Given the description of an element on the screen output the (x, y) to click on. 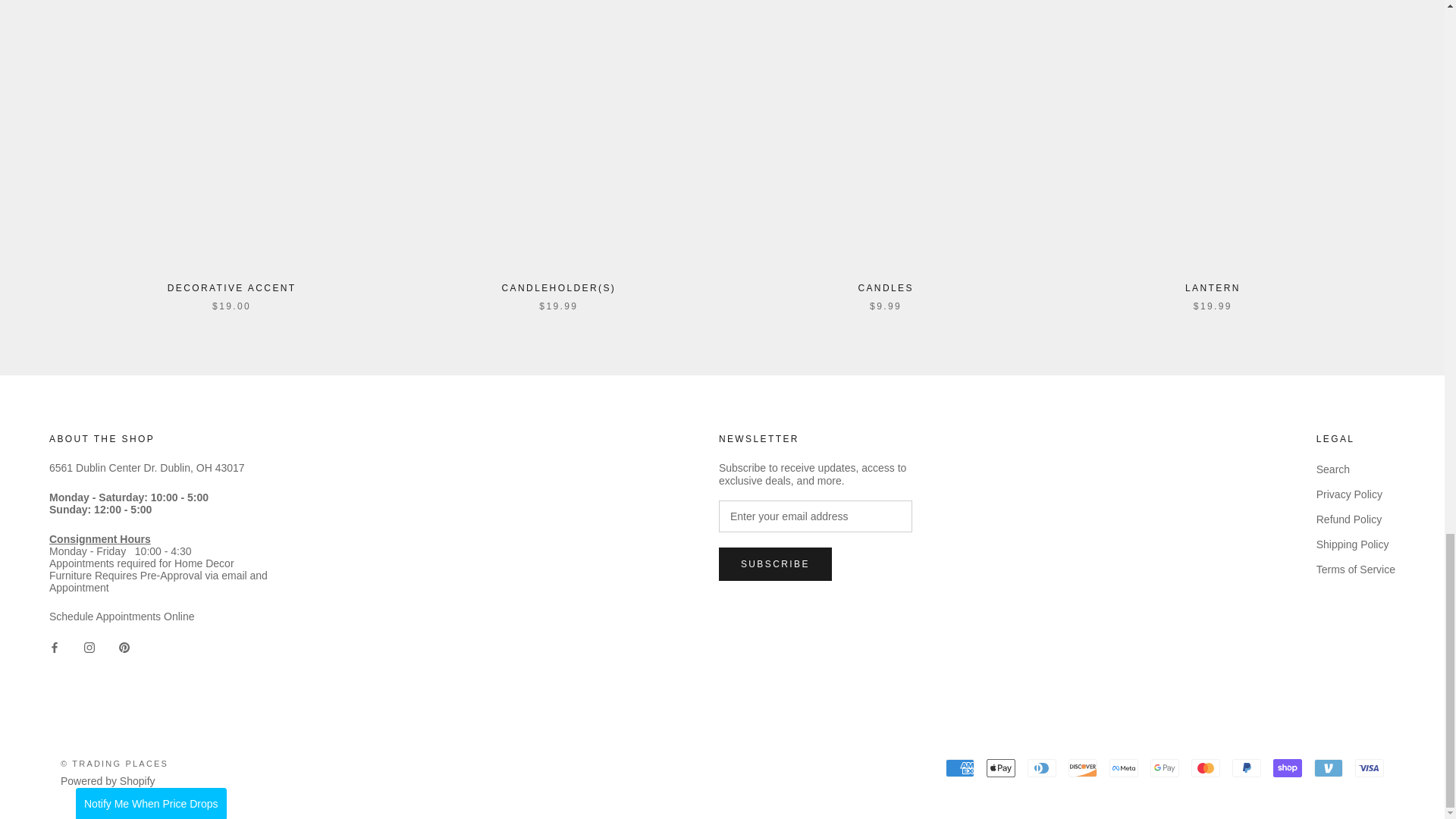
Apple Pay (1000, 768)
American Express (959, 768)
Discover (1082, 768)
Diners Club (1042, 768)
